Given the description of an element on the screen output the (x, y) to click on. 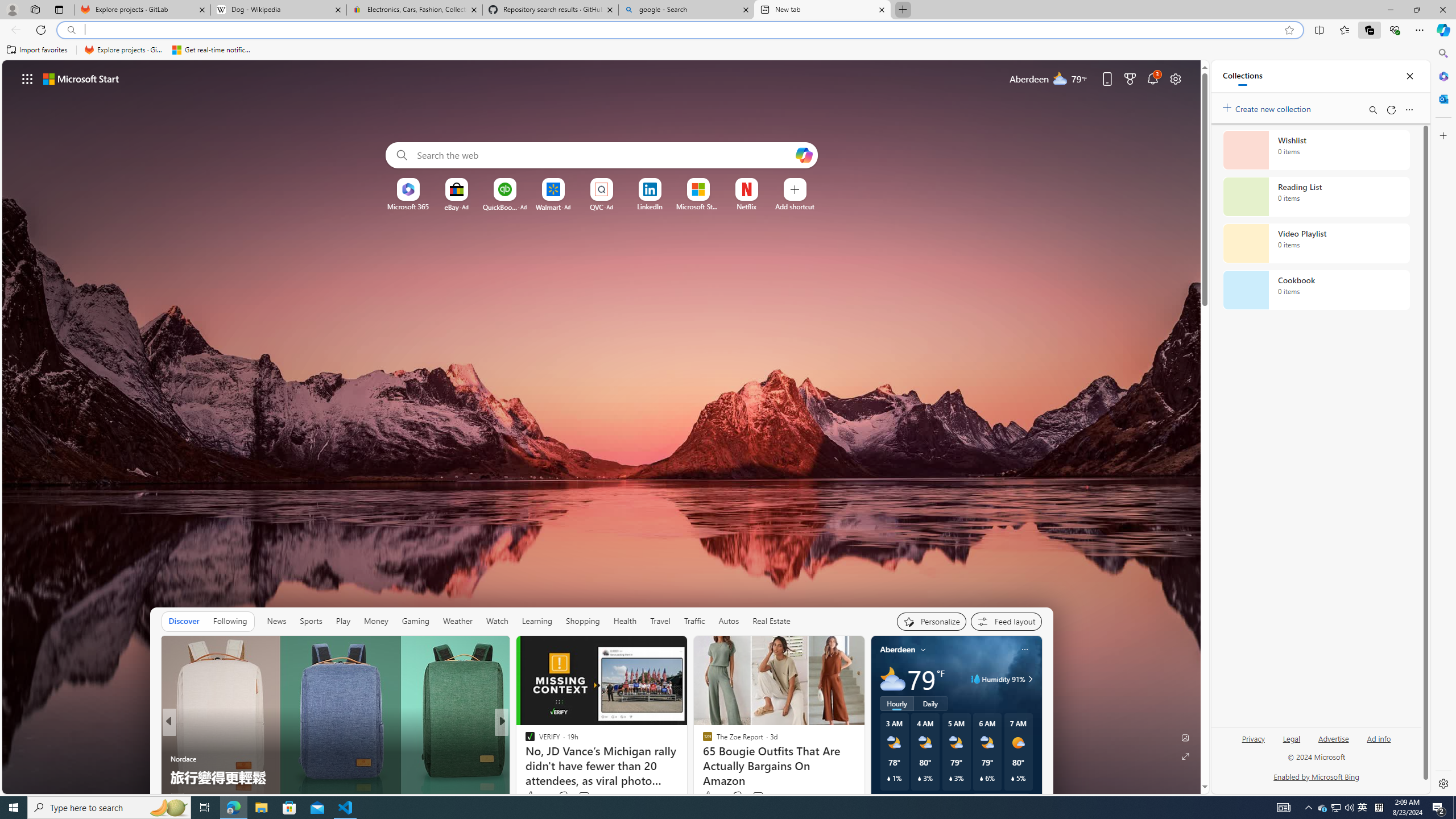
Cookbook collection, 0 items (1316, 289)
Import favorites (36, 49)
google - Search (685, 9)
Gaming (415, 621)
Real Estate (771, 621)
Page settings (1175, 78)
Favorites bar (715, 49)
Video Playlist collection, 0 items (1316, 243)
